Given the description of an element on the screen output the (x, y) to click on. 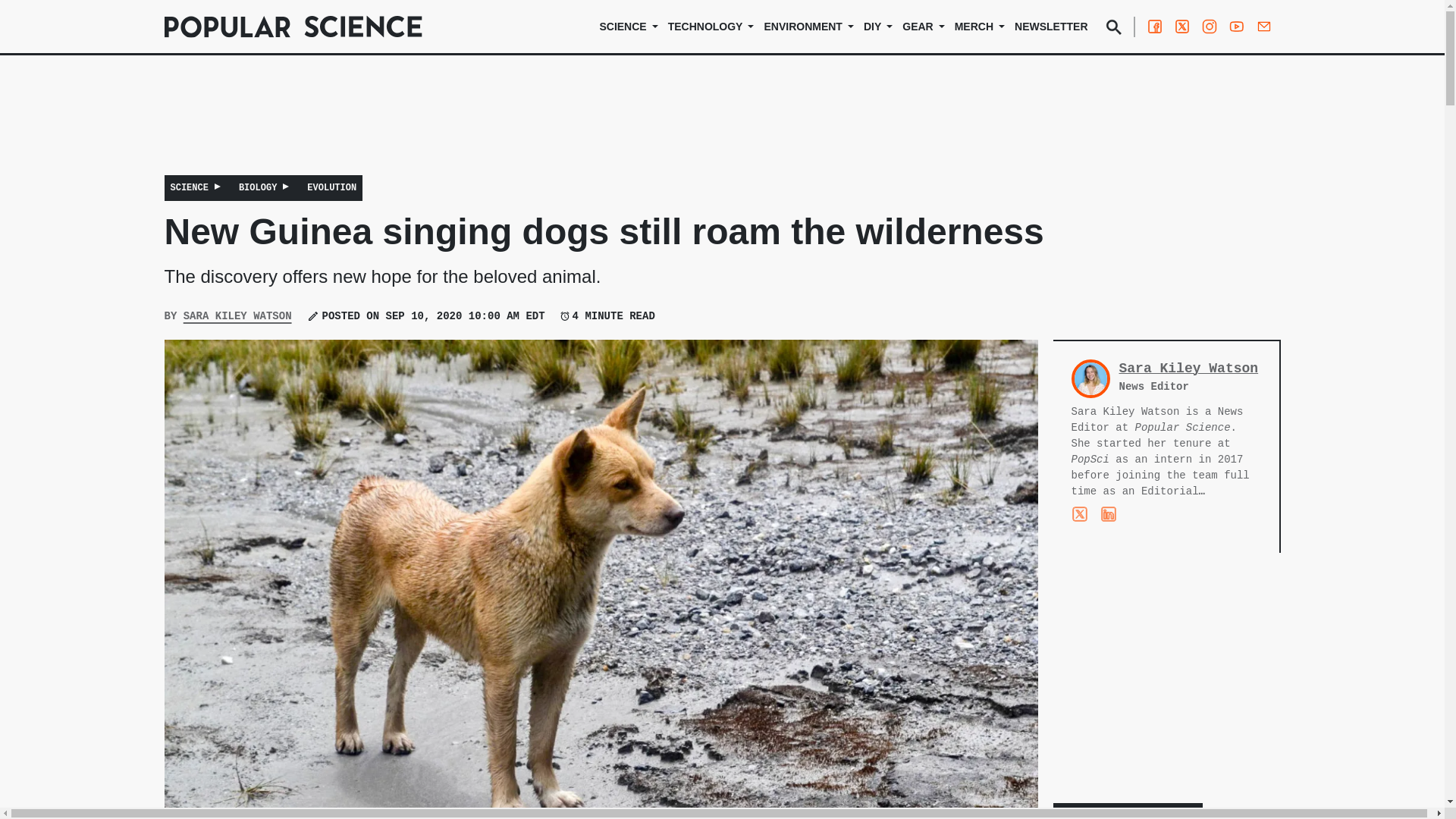
3rd party ad content (721, 125)
3rd party ad content (1165, 678)
